Given the description of an element on the screen output the (x, y) to click on. 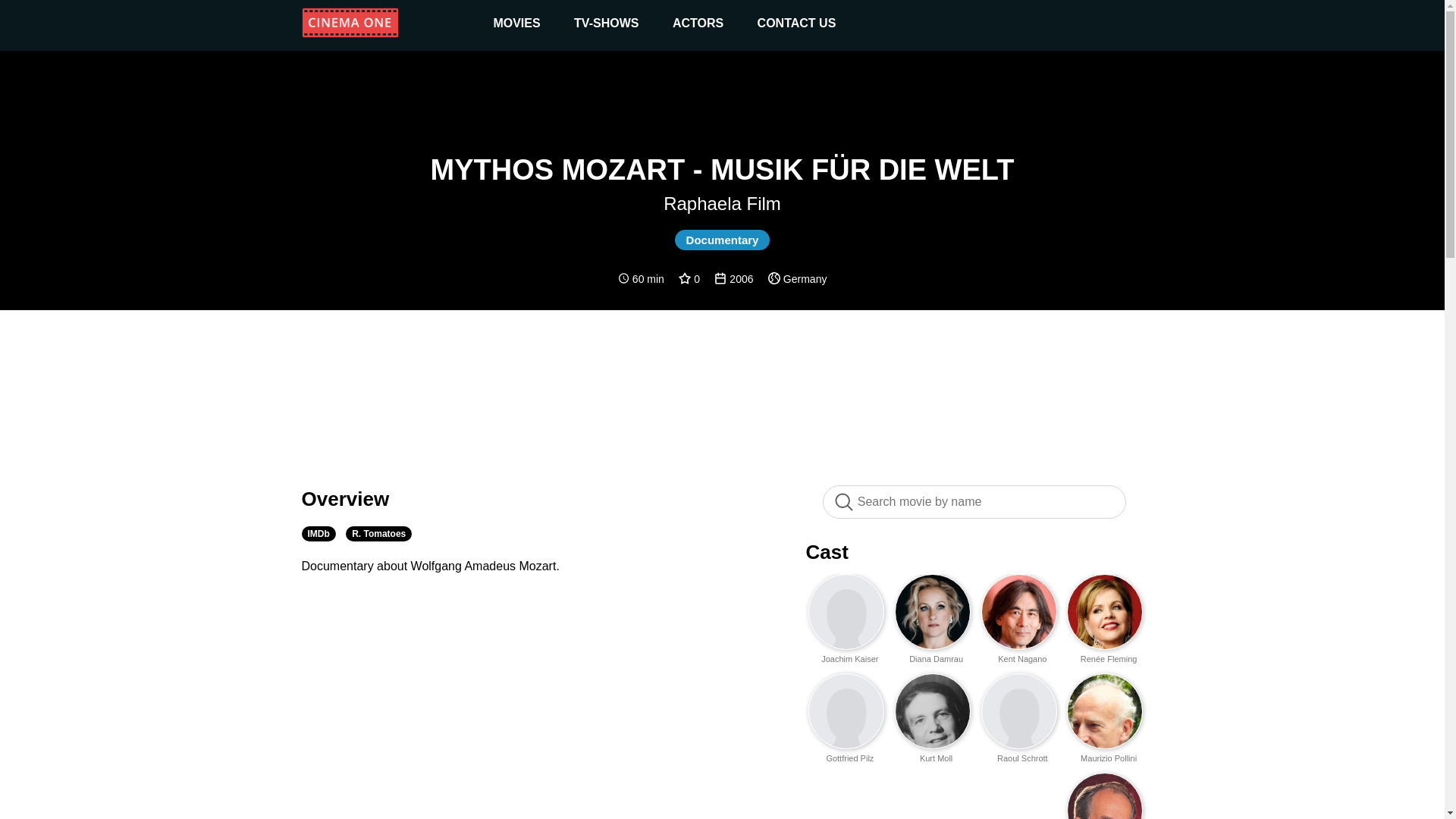
MOVIES (516, 22)
IMDb (318, 533)
CONTACT US (796, 22)
Gottfried Pilz (852, 757)
Maurizio Pollini (1110, 757)
Joachim Kaiser (852, 658)
TV-SHOWS (606, 22)
R. Tomatoes (379, 533)
Kurt Moll (939, 757)
Kent Nagano (1024, 658)
